Given the description of an element on the screen output the (x, y) to click on. 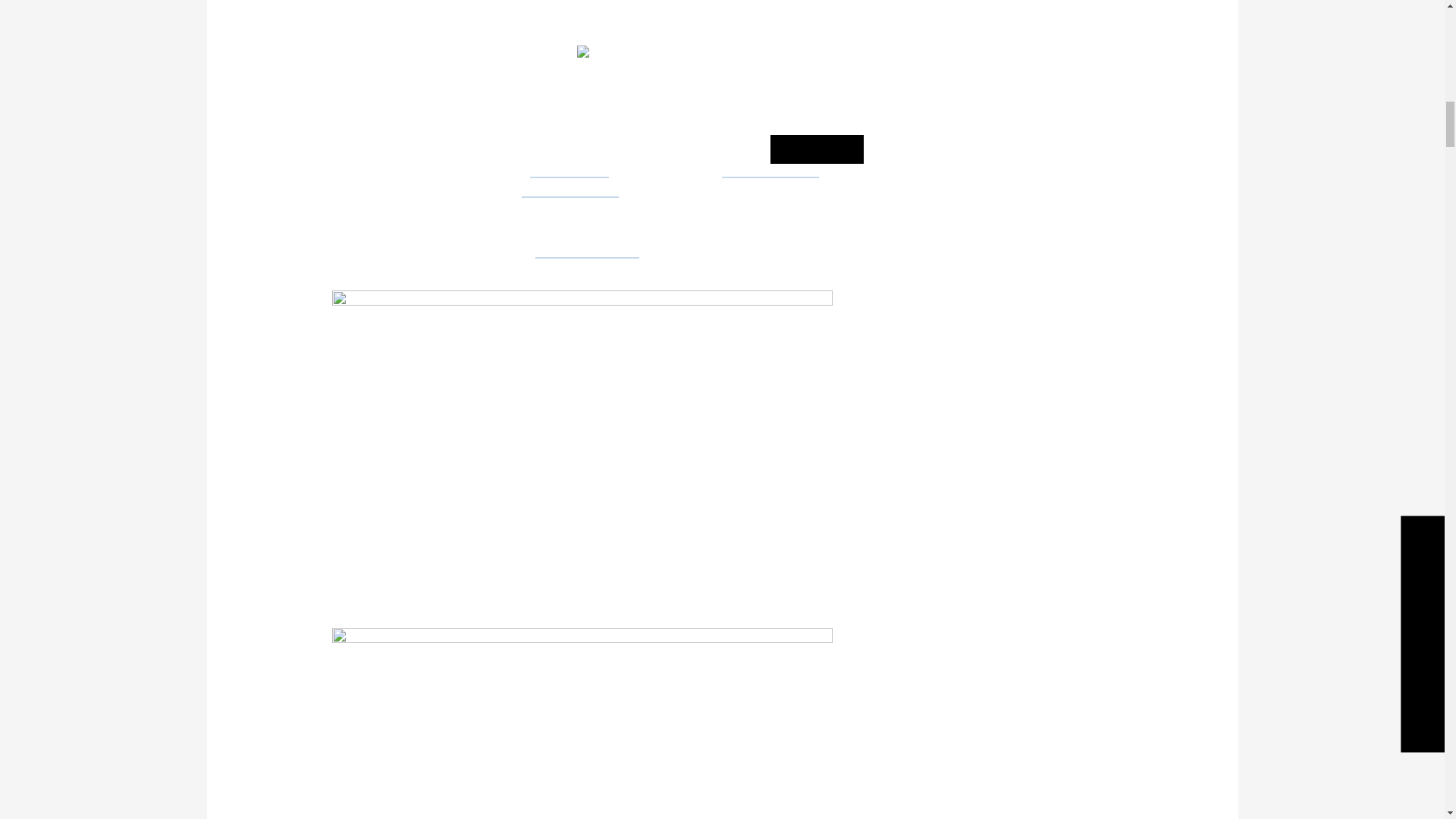
Rabbit and the Bear (770, 168)
Rabbit and the Bear (569, 188)
Shane Shepherd (568, 168)
Byron Bay Weddings (587, 247)
